Given the description of an element on the screen output the (x, y) to click on. 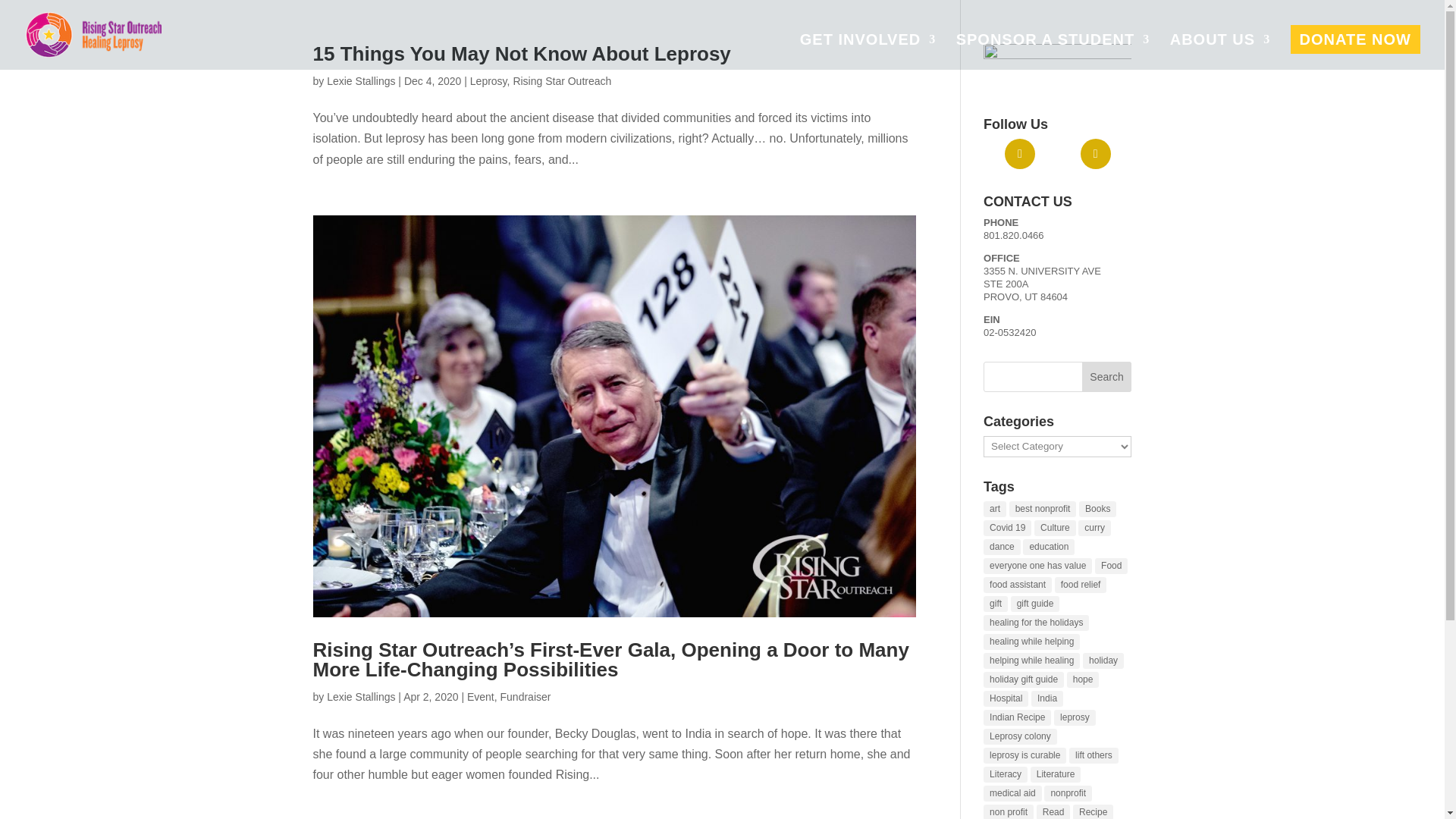
ABOUT US (1219, 51)
GET INVOLVED (867, 51)
DONATE NOW (1355, 39)
SPONSOR A STUDENT (1053, 51)
Posts by Lexie Stallings (360, 696)
Search (1106, 376)
Posts by Lexie Stallings (360, 80)
